Given the description of an element on the screen output the (x, y) to click on. 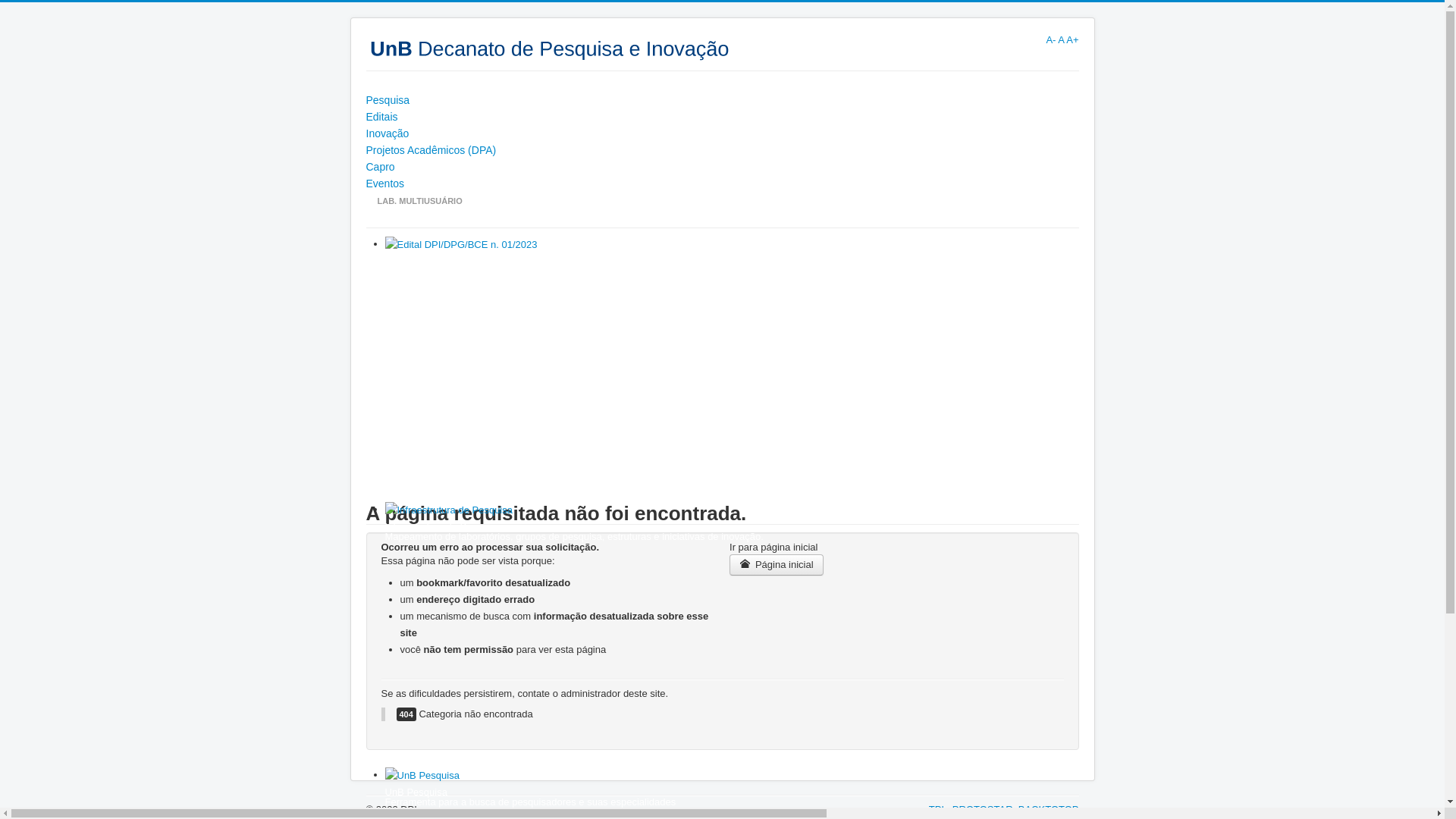
A Element type: text (1060, 39)
TPL_PROTOSTAR_BACKTOTOP Element type: text (1003, 809)
Edital DPI/DPG/BCE n. 01/2023 Element type: text (455, 260)
Editais Element type: text (721, 116)
Capro Element type: text (721, 166)
Pesquisa Element type: text (721, 99)
UnB Pesquisa Element type: text (416, 791)
Infraestrutura de Pesquisa Element type: text (442, 526)
A+ Element type: text (1072, 39)
A- Element type: text (1050, 39)
Eventos Element type: text (721, 183)
